Given the description of an element on the screen output the (x, y) to click on. 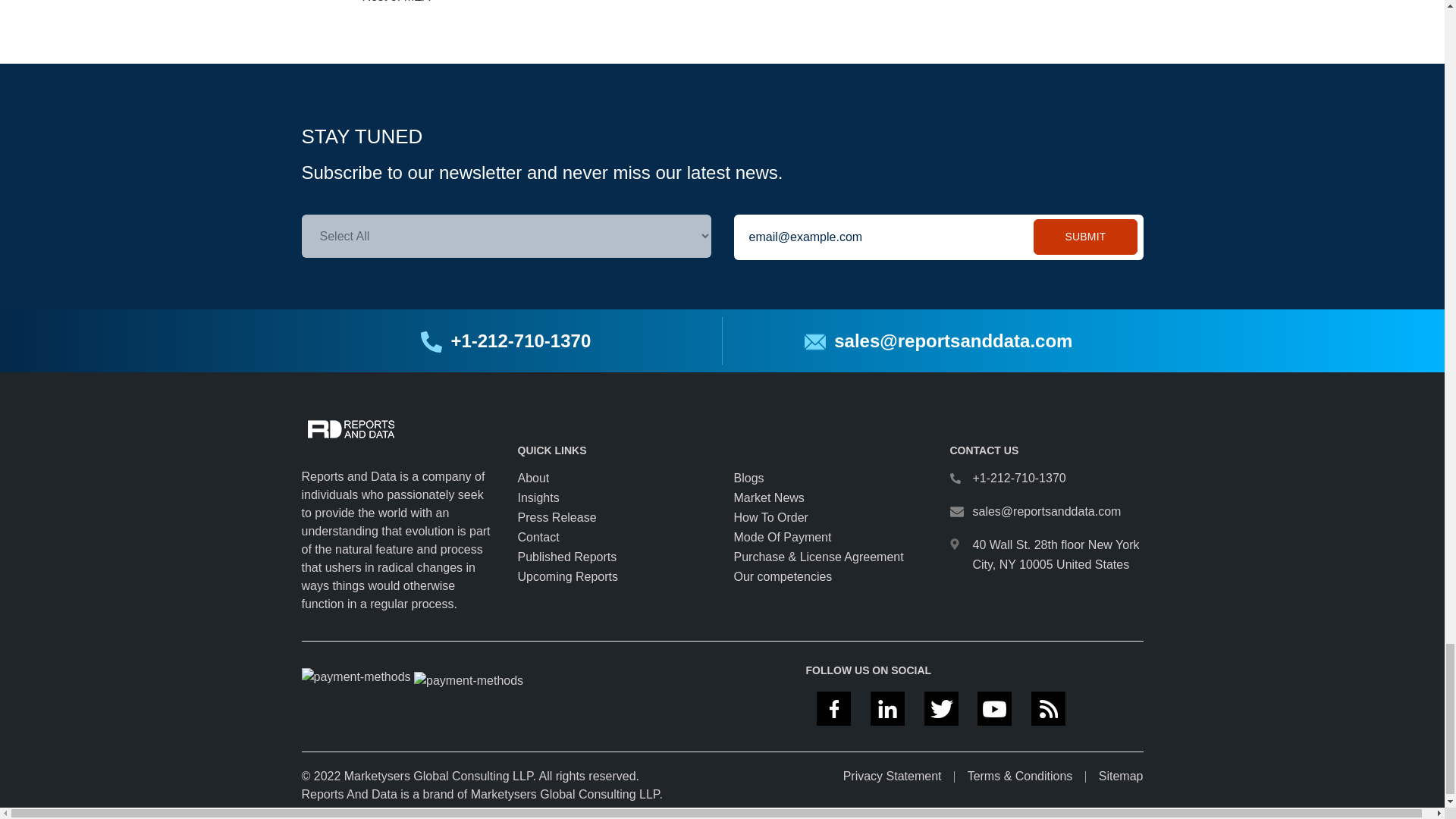
Submit (1085, 236)
